Given the description of an element on the screen output the (x, y) to click on. 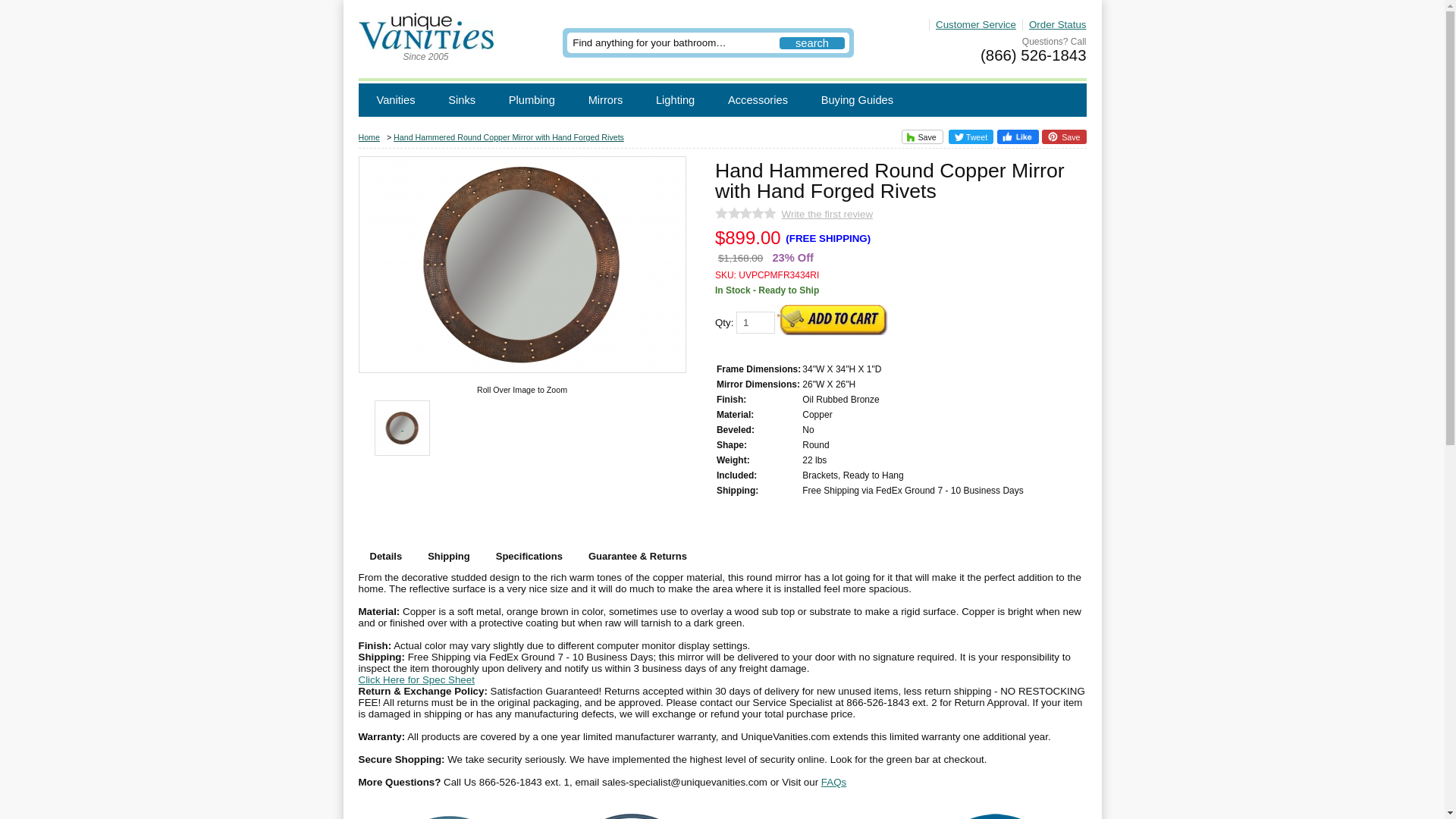
Customer Service (972, 24)
search (811, 42)
Order Status (1054, 24)
Vanities (395, 100)
search (811, 42)
Unique Vanities (425, 44)
search (811, 42)
Order Status (1054, 24)
1 (755, 322)
Vanities (395, 100)
Customer Service (972, 24)
